Given the description of an element on the screen output the (x, y) to click on. 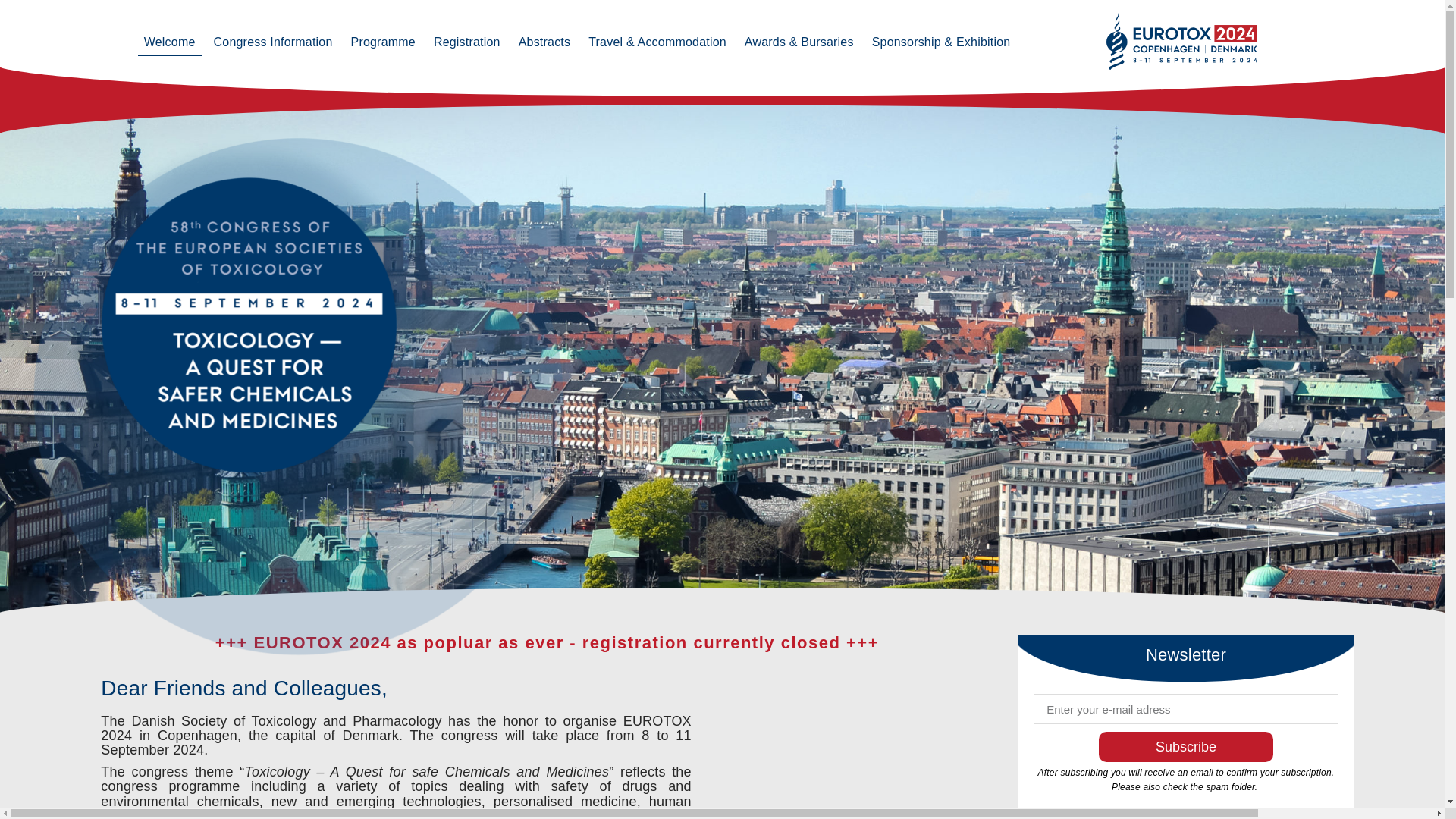
Welcome (170, 42)
Congress Information (273, 42)
Abstracts (544, 42)
Programme (383, 42)
Registration (467, 42)
